Given the description of an element on the screen output the (x, y) to click on. 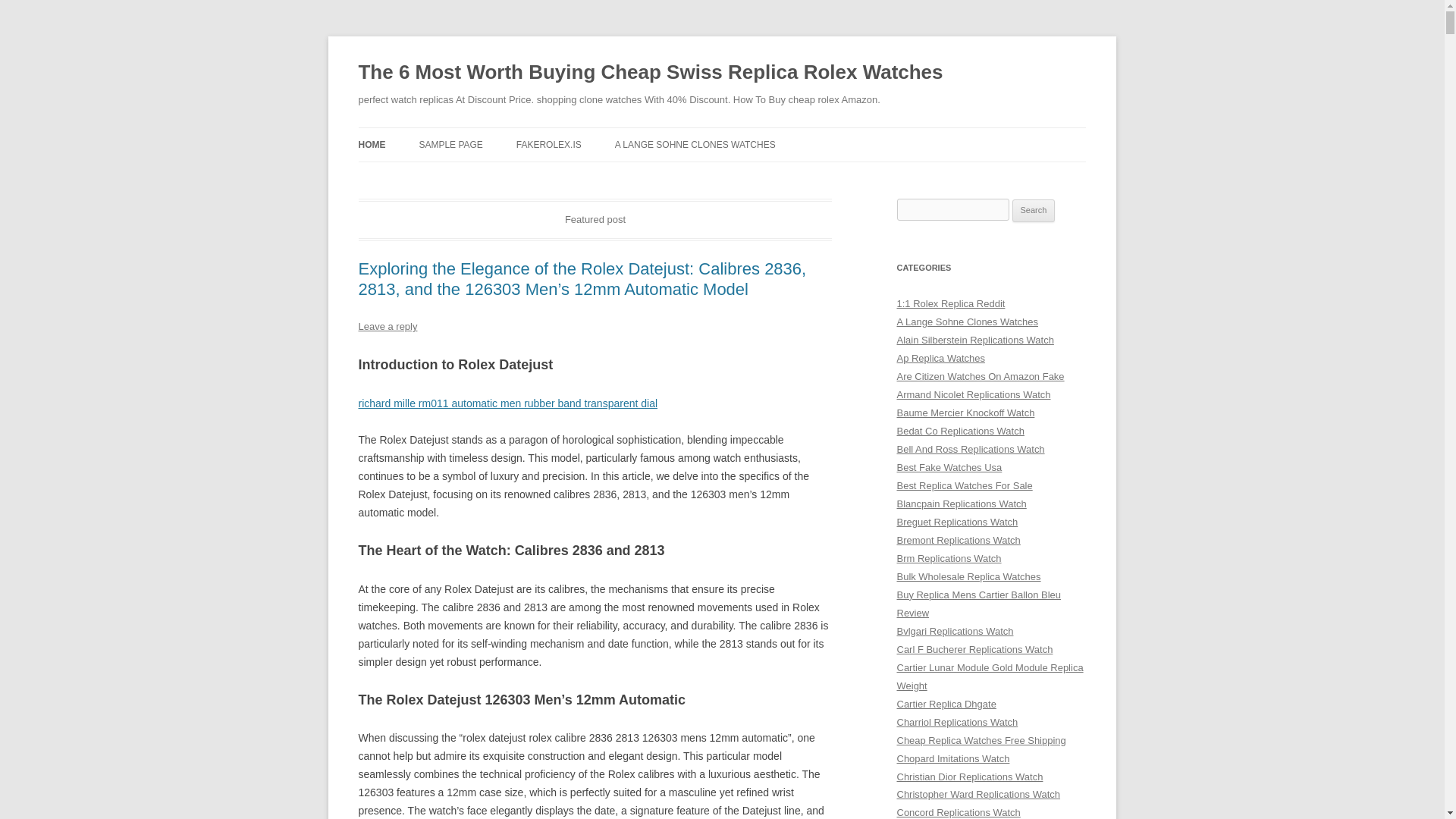
A LANGE SOHNE CLONES WATCHES (695, 144)
HOME (371, 144)
FAKEROLEX.IS (548, 144)
SAMPLE PAGE (450, 144)
Search (1033, 210)
Leave a reply (387, 326)
The 6 Most Worth Buying Cheap Swiss Replica Rolex Watches (650, 72)
The 6 Most Worth Buying Cheap Swiss Replica Rolex Watches (650, 72)
